Given the description of an element on the screen output the (x, y) to click on. 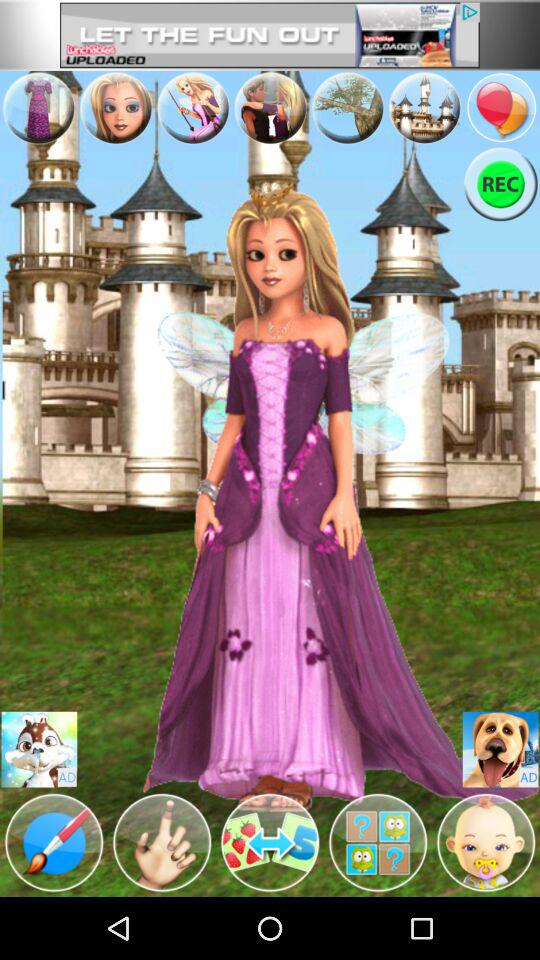
selec castle (424, 107)
